Given the description of an element on the screen output the (x, y) to click on. 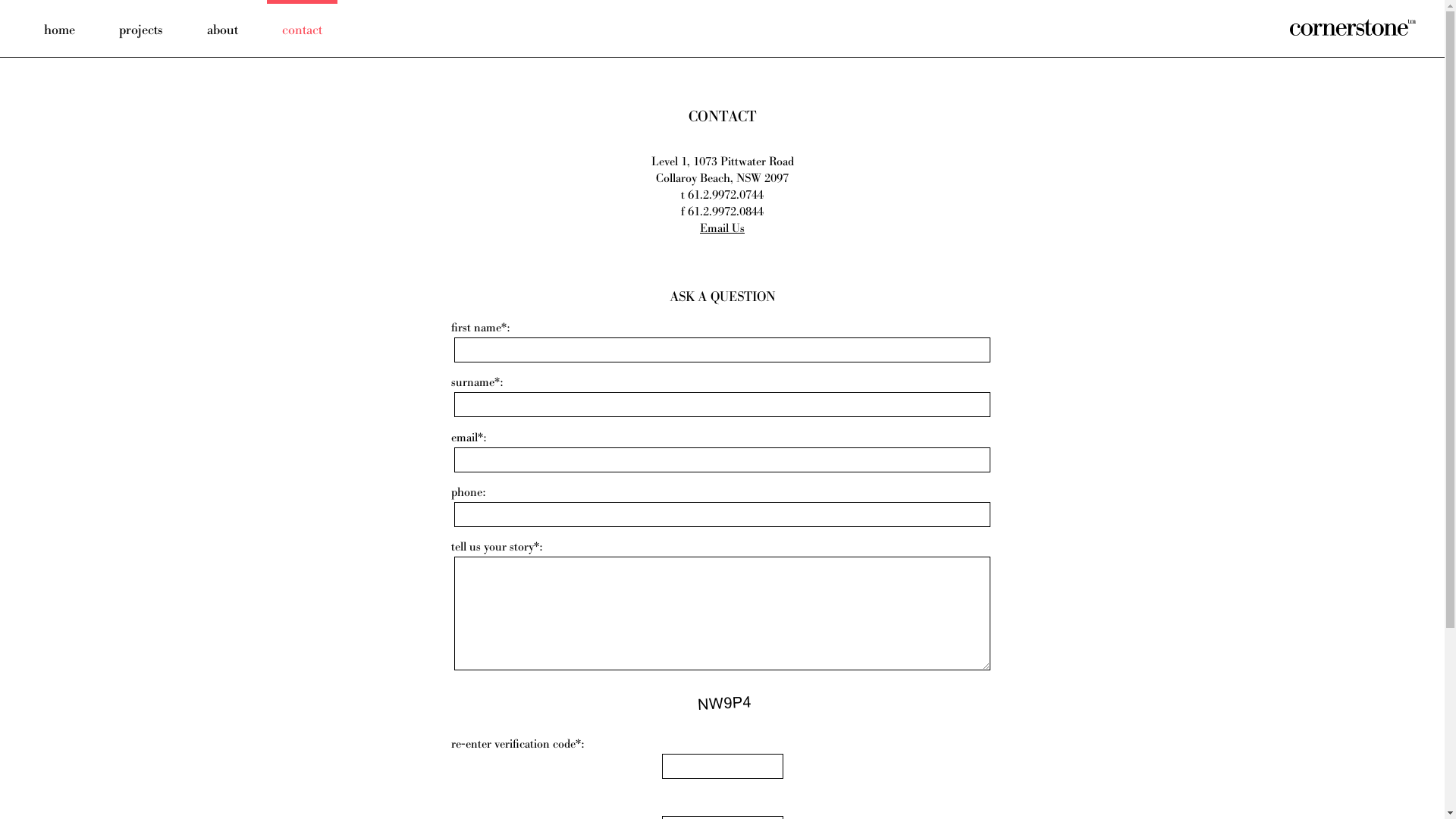
home Element type: text (59, 28)
projects Element type: text (140, 28)
contact Element type: text (301, 28)
t 61.2.9972.0744 Element type: text (721, 194)
about Element type: text (222, 28)
Email Us Element type: text (721, 228)
